Given the description of an element on the screen output the (x, y) to click on. 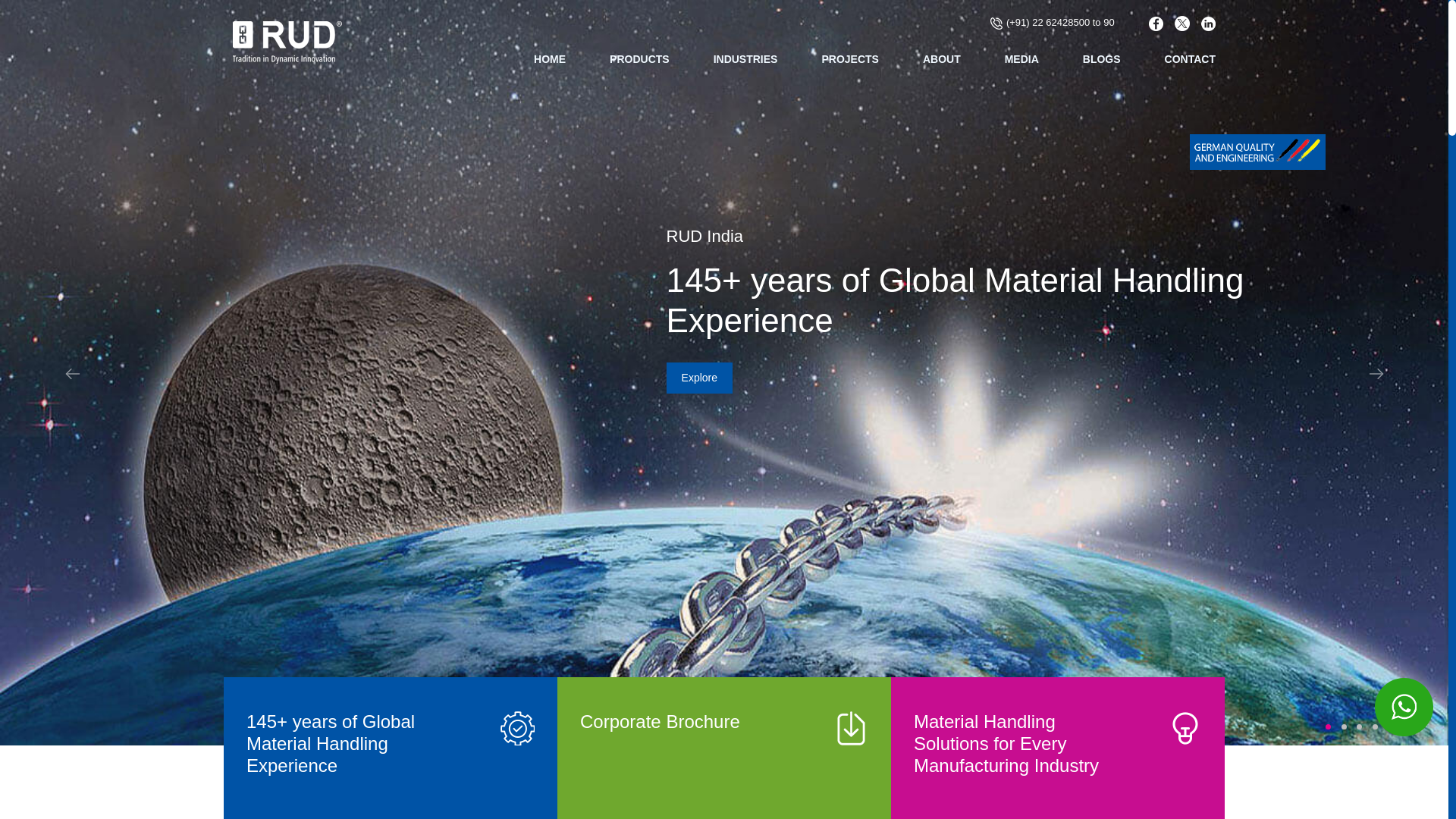
PRODUCTS (639, 64)
BLOGS (1102, 64)
ABOUT (941, 64)
Explore (699, 377)
PROJECTS (849, 64)
INDUSTRIES (745, 64)
CONTACT (1189, 64)
MEDIA (1021, 64)
HOME (550, 64)
